Given the description of an element on the screen output the (x, y) to click on. 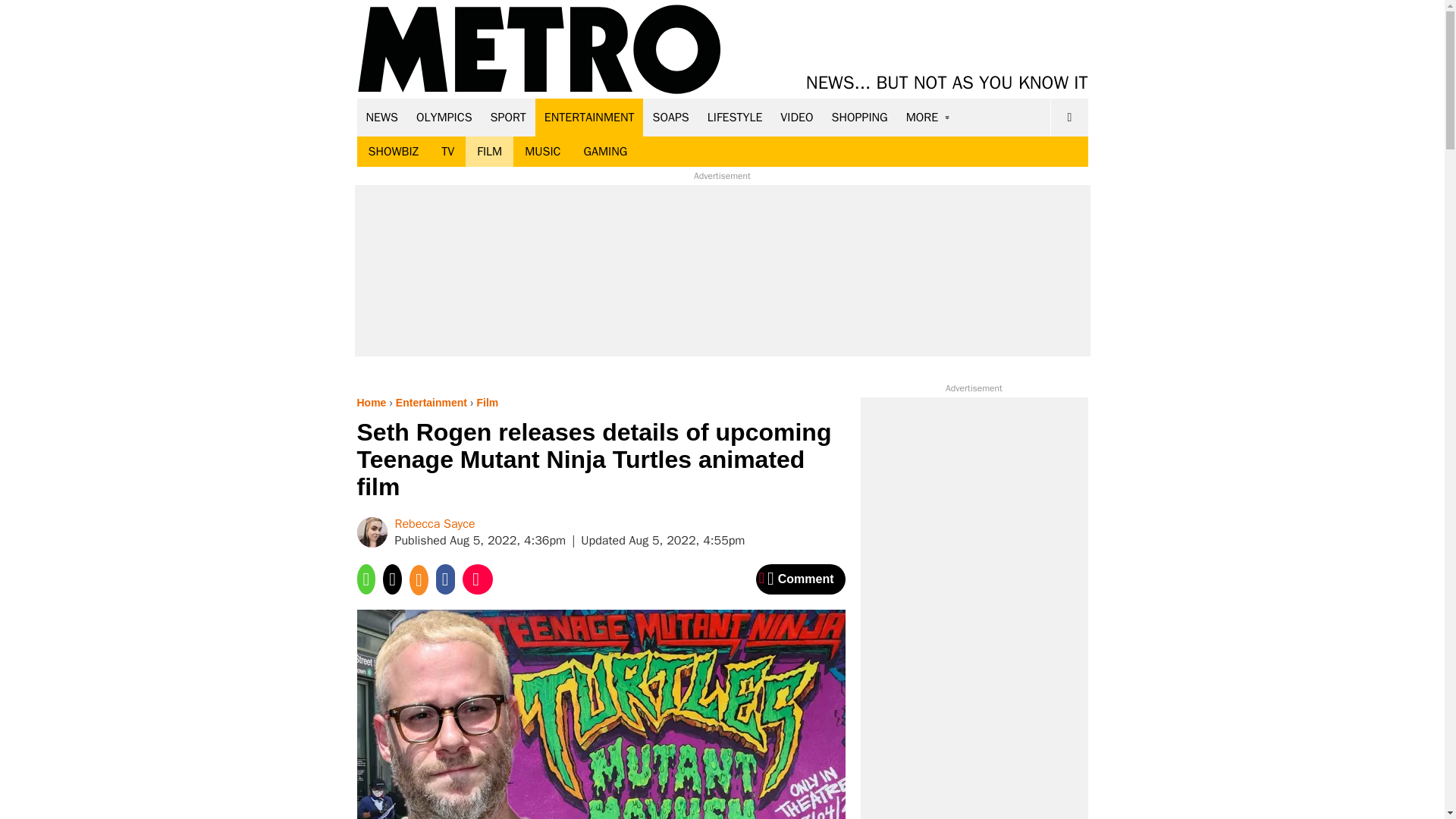
SOAPS (670, 117)
MUSIC (542, 151)
ENTERTAINMENT (589, 117)
NEWS (381, 117)
TV (447, 151)
SPORT (508, 117)
Metro (539, 50)
FILM (489, 151)
OLYMPICS (444, 117)
LIFESTYLE (734, 117)
GAMING (605, 151)
SHOWBIZ (392, 151)
